Given the description of an element on the screen output the (x, y) to click on. 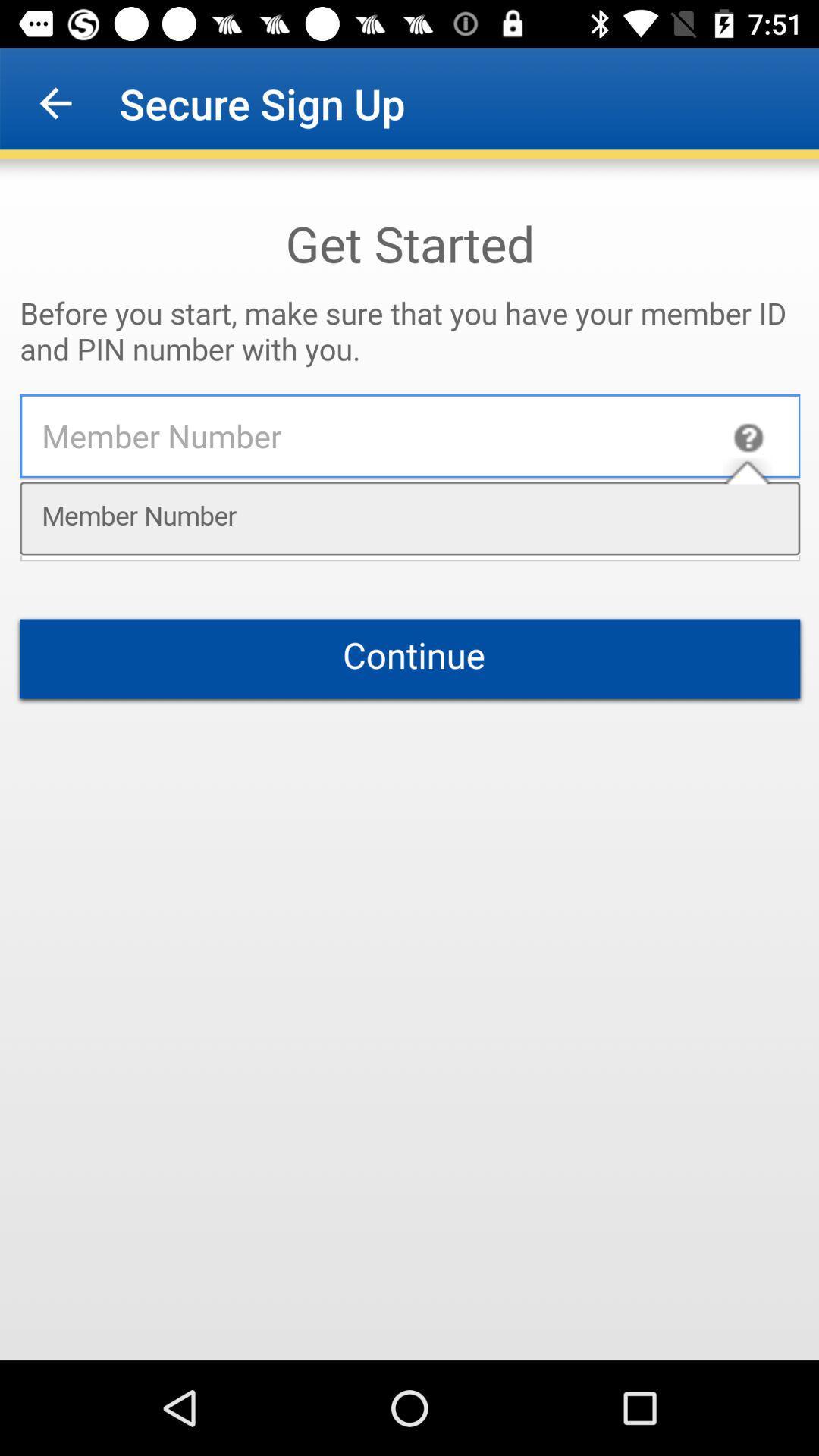
fill out information (409, 759)
